Given the description of an element on the screen output the (x, y) to click on. 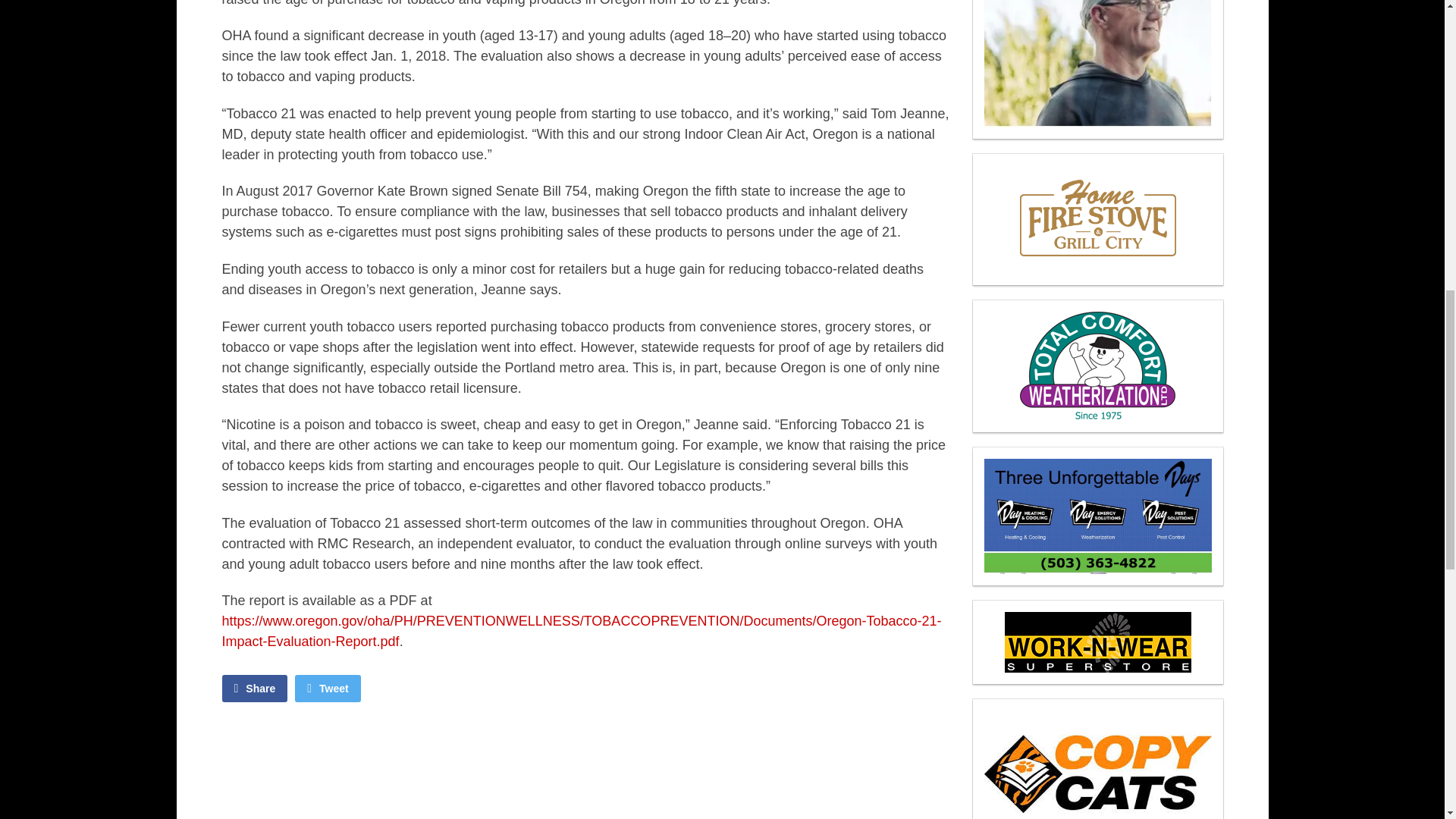
Share on Twitter (327, 687)
Share (253, 687)
Tweet (327, 687)
Share on Facebook (253, 687)
